Given the description of an element on the screen output the (x, y) to click on. 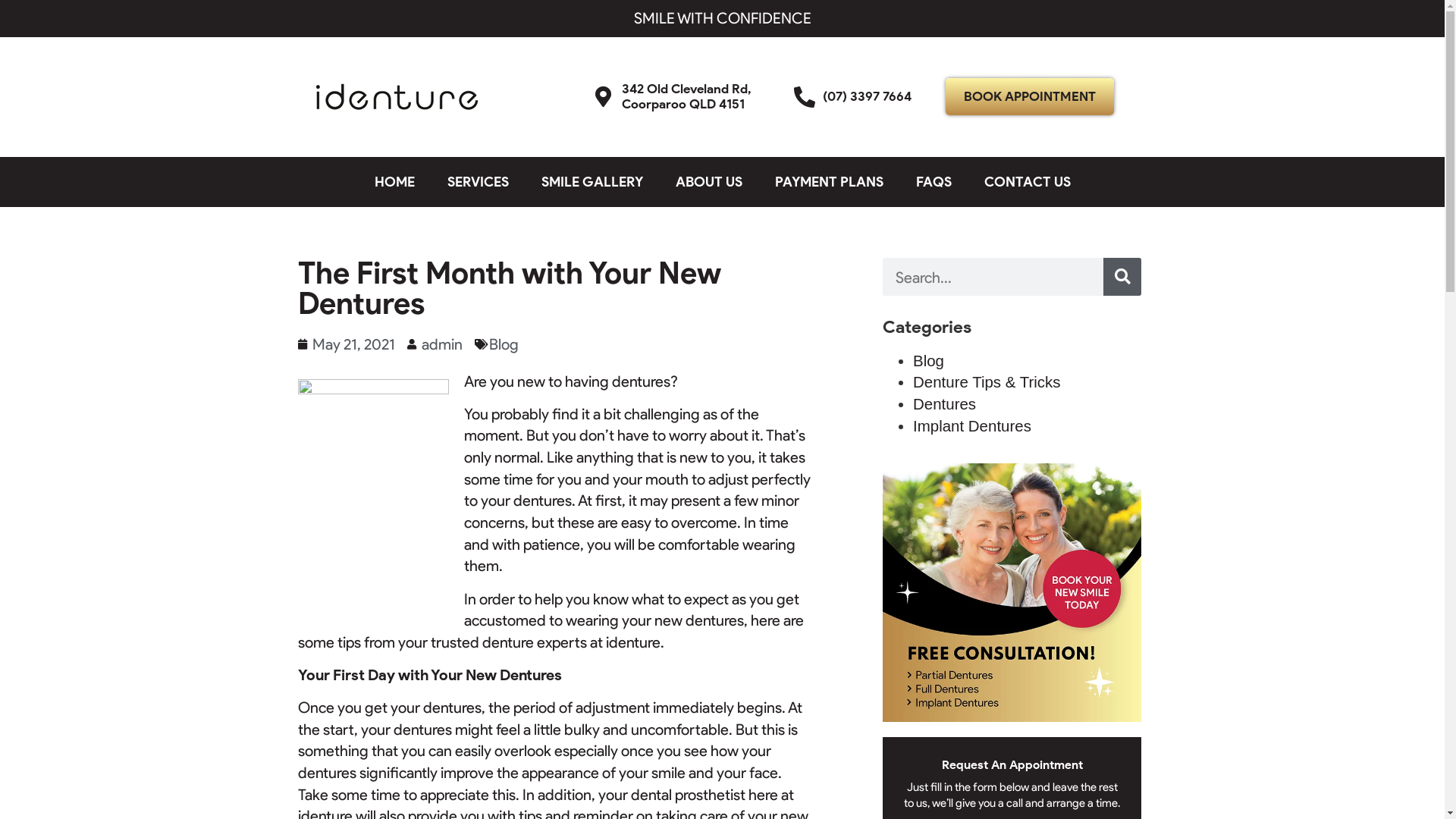
CONTACT US Element type: text (1027, 181)
SMILE GALLERY Element type: text (592, 181)
May 21, 2021 Element type: text (345, 344)
Denture Tips & Tricks Element type: text (986, 381)
Blog Element type: text (928, 360)
Implant Dentures Element type: text (972, 425)
SERVICES Element type: text (478, 181)
BOOK APPOINTMENT Element type: text (1029, 96)
PAYMENT PLANS Element type: text (828, 181)
342 Old Cleveland Rd,
Coorparoo QLD 4151 Element type: text (682, 96)
Blog Element type: text (502, 343)
(07) 3397 7664 Element type: text (860, 96)
ABOUT US Element type: text (707, 181)
FAQS Element type: text (933, 181)
Dentures Element type: text (944, 403)
HOME Element type: text (394, 181)
